Given the description of an element on the screen output the (x, y) to click on. 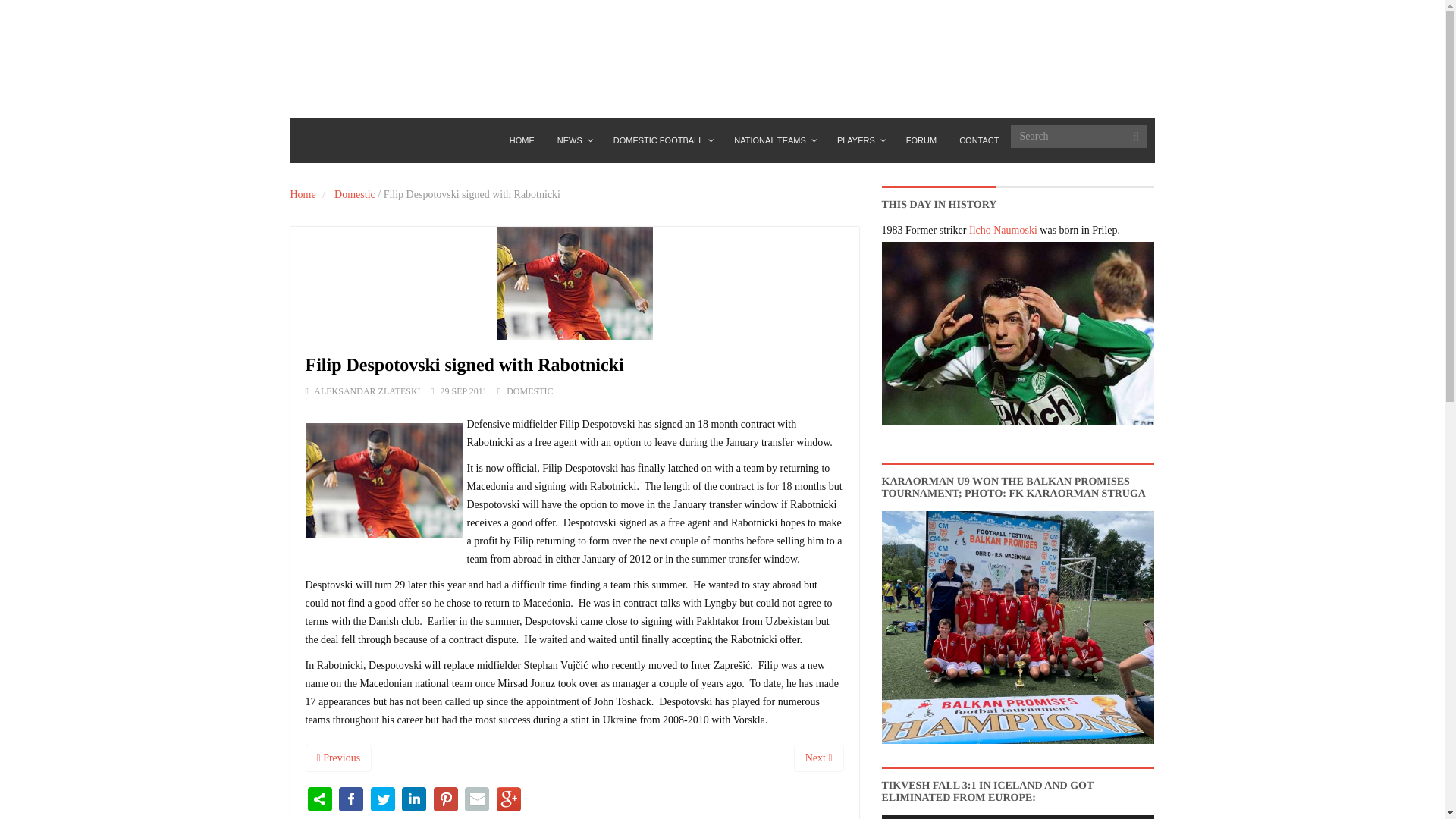
Filip Despotovski; photo: arasport.az (383, 480)
Posts by Aleksandar Zlateski (367, 390)
NEWS (574, 139)
HOME (521, 139)
DOMESTIC FOOTBALL (662, 139)
